Given the description of an element on the screen output the (x, y) to click on. 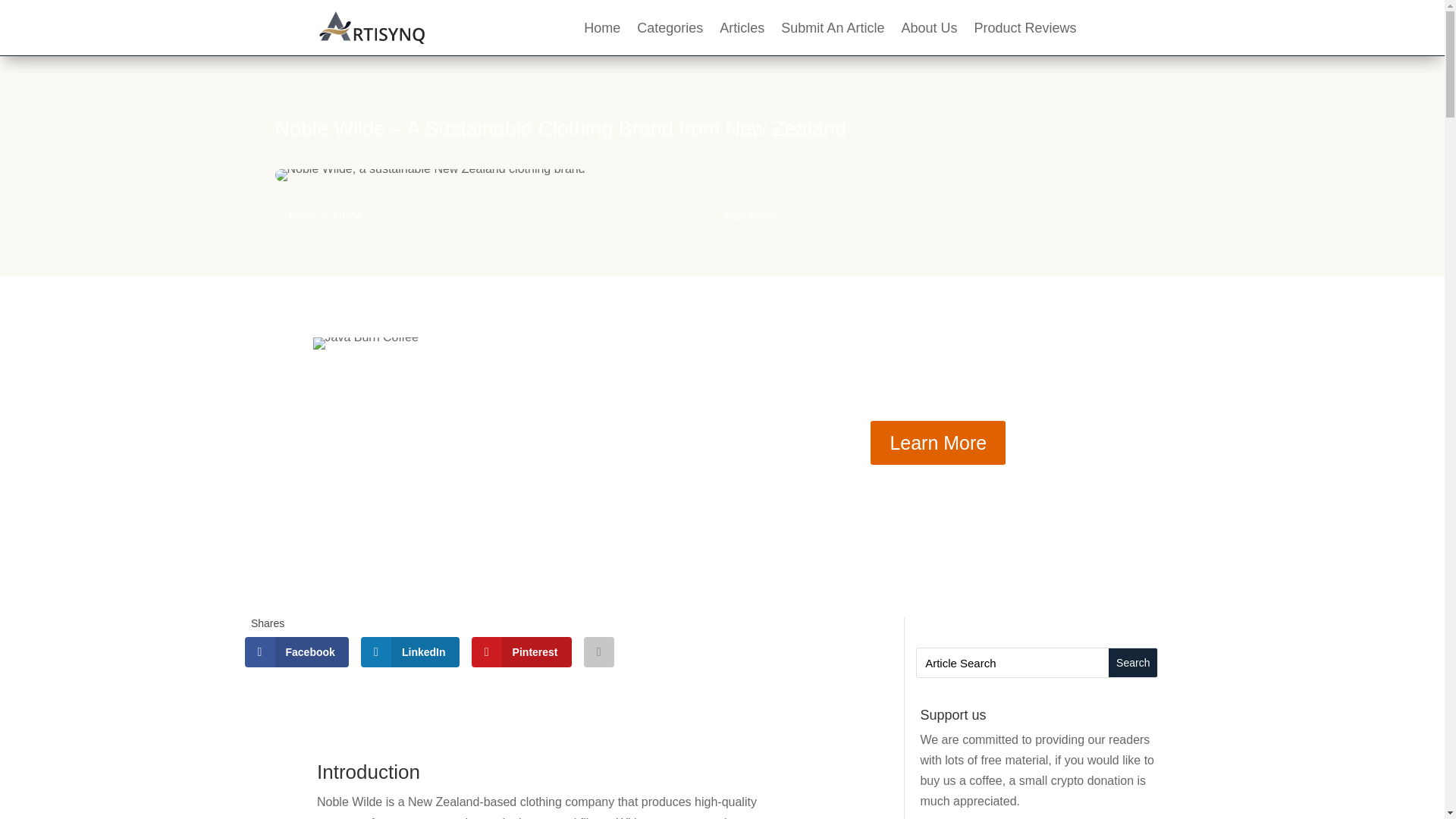
Home (601, 30)
Pinterest (521, 652)
Facebook (295, 652)
Search (1132, 662)
Learn More (938, 442)
Product Reviews (1024, 30)
Noble Wilde Fashion (430, 174)
LinkedIn (410, 652)
javaburn-products (365, 343)
Search (1132, 662)
